Given the description of an element on the screen output the (x, y) to click on. 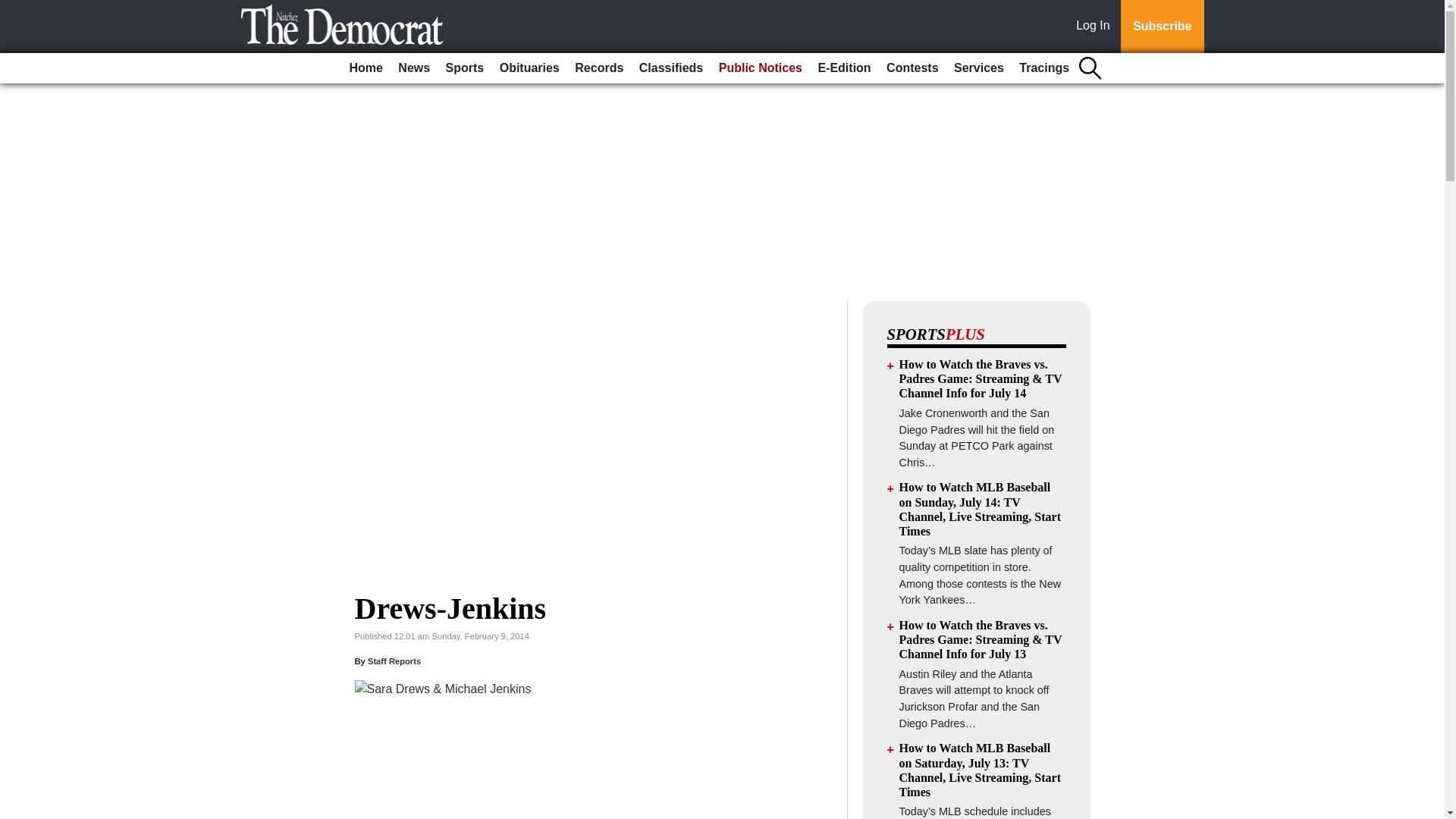
Records (598, 68)
Public Notices (760, 68)
Tracings (1044, 68)
Go (13, 9)
Obituaries (529, 68)
News (413, 68)
Subscribe (1162, 26)
Staff Reports (394, 660)
Services (978, 68)
Contests (911, 68)
Sports (464, 68)
Classifieds (671, 68)
E-Edition (843, 68)
Log In (1095, 26)
Home (365, 68)
